Given the description of an element on the screen output the (x, y) to click on. 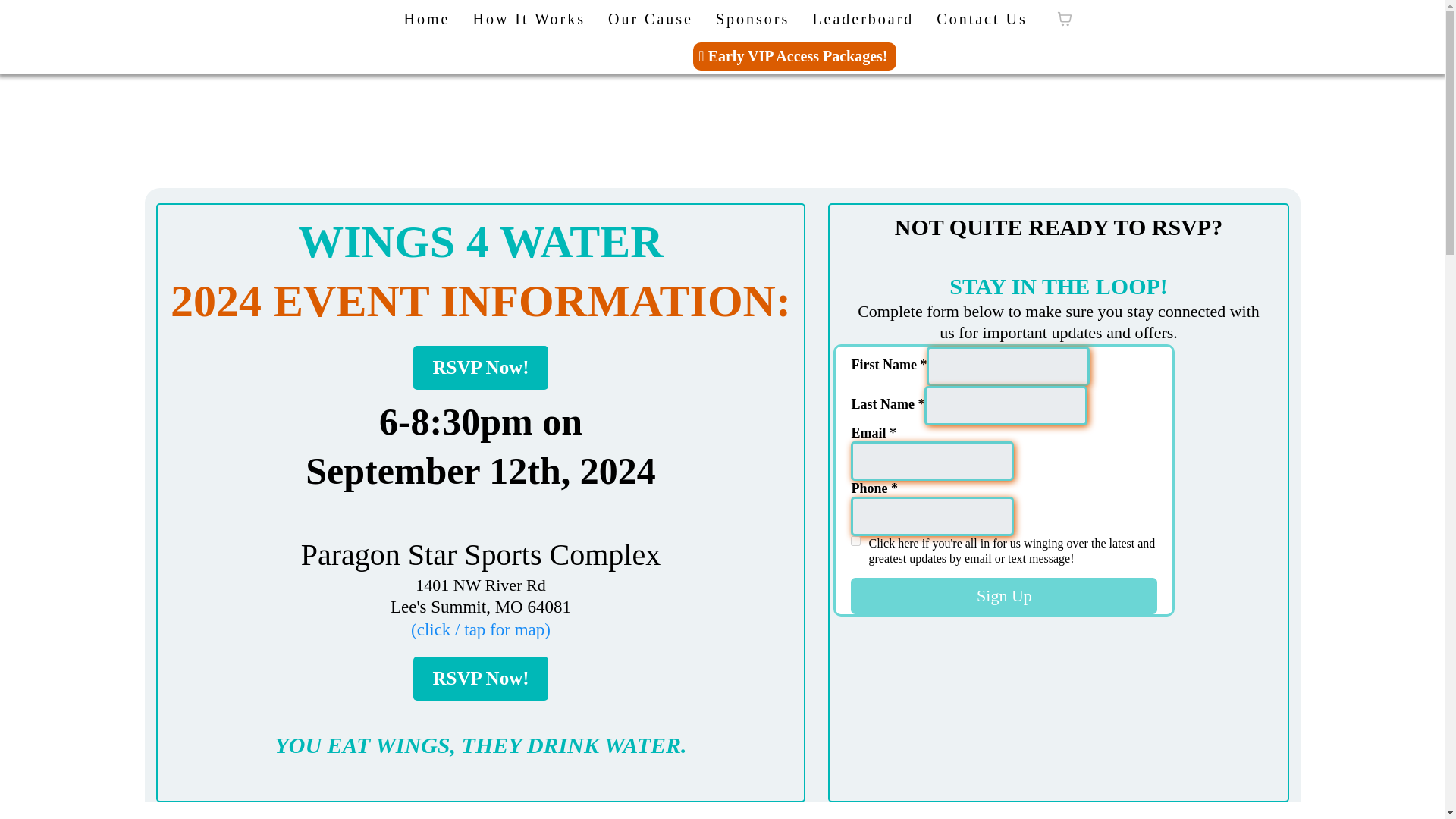
Sign Up (1003, 596)
Our Cause (650, 19)
Contact Us (981, 19)
Home (427, 19)
How It Works (528, 19)
Early VIP Access Packages! (794, 56)
RSVP Now! (480, 678)
Leaderboard (862, 19)
Sponsors (752, 19)
RSVP Now! (480, 367)
